Given the description of an element on the screen output the (x, y) to click on. 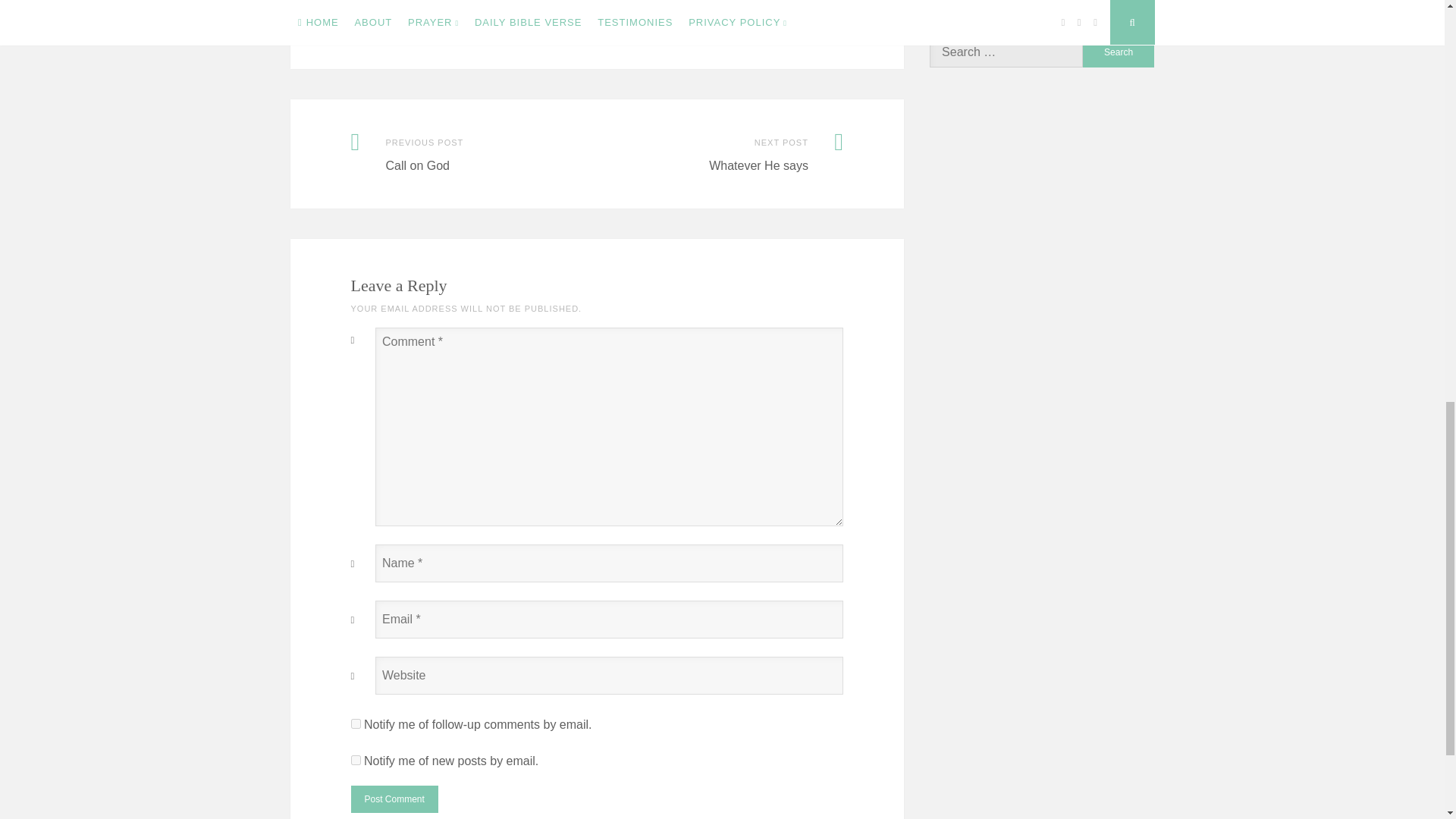
Post Comment (394, 799)
Search (1118, 51)
subscribe (354, 723)
subscribe (354, 759)
Search (1118, 51)
Post Comment (394, 799)
Search (1118, 51)
